Given the description of an element on the screen output the (x, y) to click on. 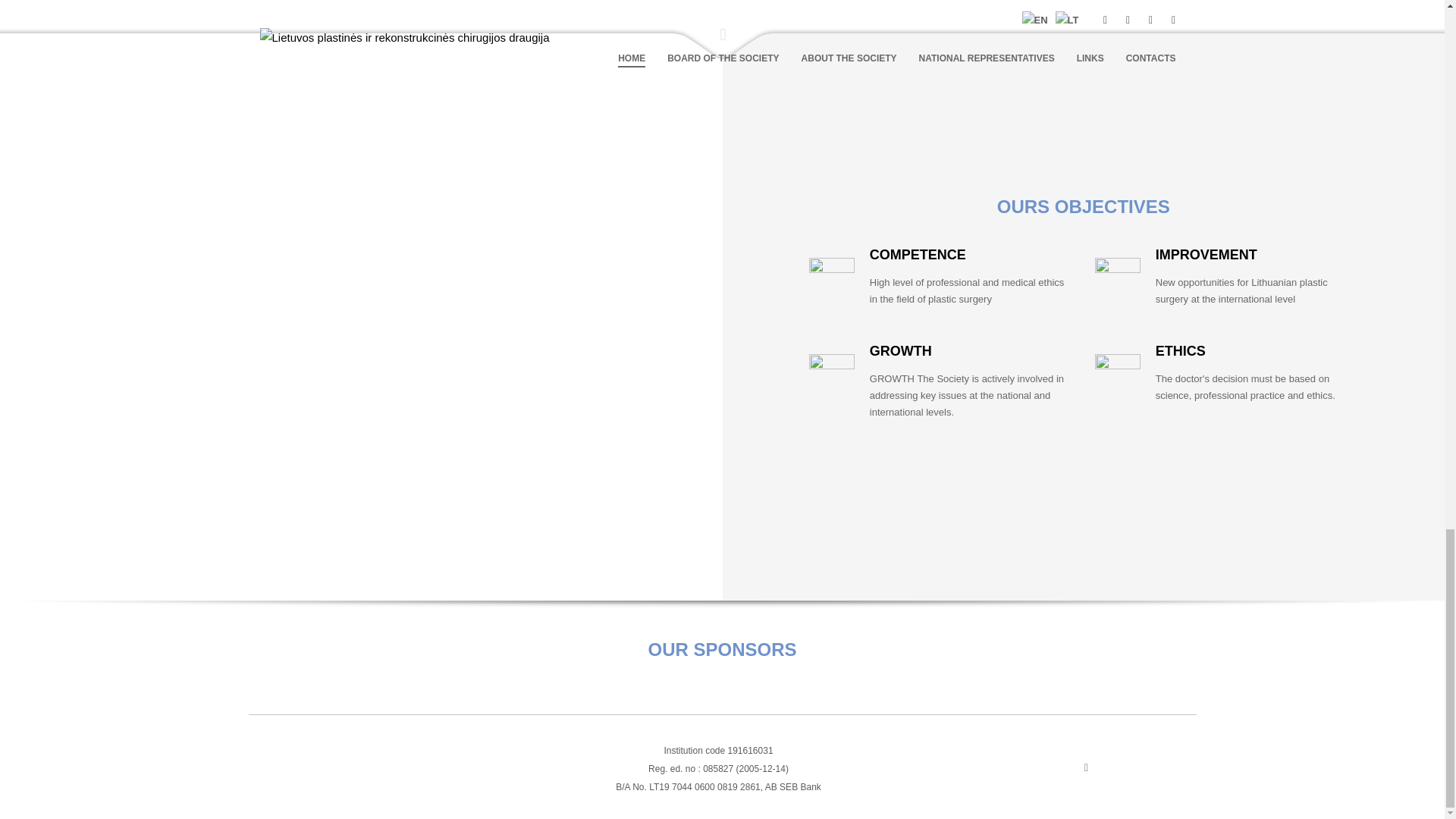
IMPROVEMENT (1206, 254)
GROWTH (900, 350)
COMPETENCE (917, 254)
ETHICS (1180, 350)
